Given the description of an element on the screen output the (x, y) to click on. 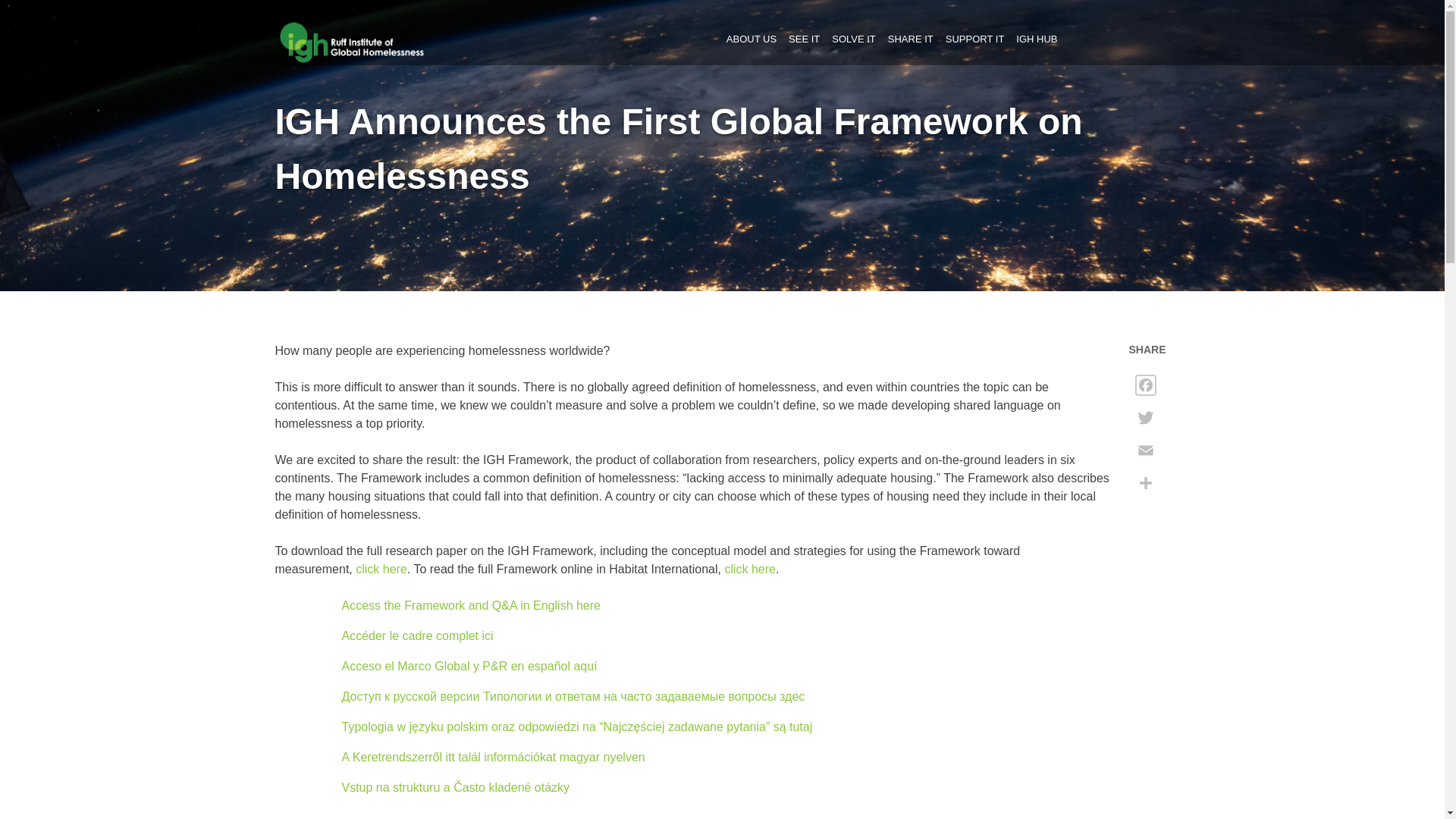
Facebook (1150, 390)
ABOUT US (751, 39)
SHARE IT (910, 39)
Twitter (1150, 423)
SOLVE IT (853, 39)
Email (1150, 455)
